Given the description of an element on the screen output the (x, y) to click on. 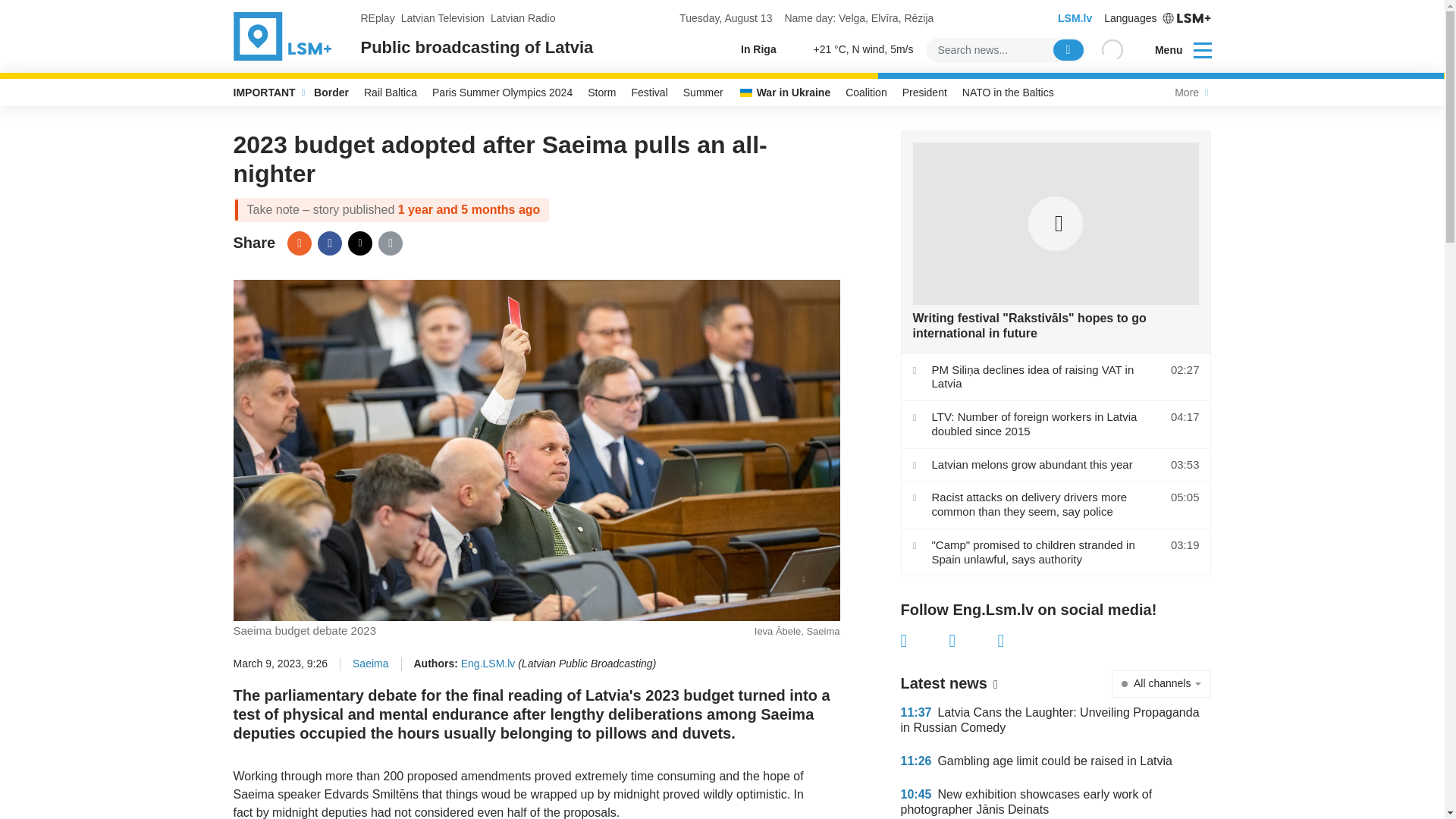
Latvian Television (442, 18)
Facebook (925, 640)
Linkedin (1021, 640)
Draugiem (298, 242)
NATO in the Baltics (1008, 92)
Border (330, 92)
Languages (1157, 18)
War in Ukraine (784, 92)
REplay (377, 18)
Latvian Radio (523, 18)
